Given the description of an element on the screen output the (x, y) to click on. 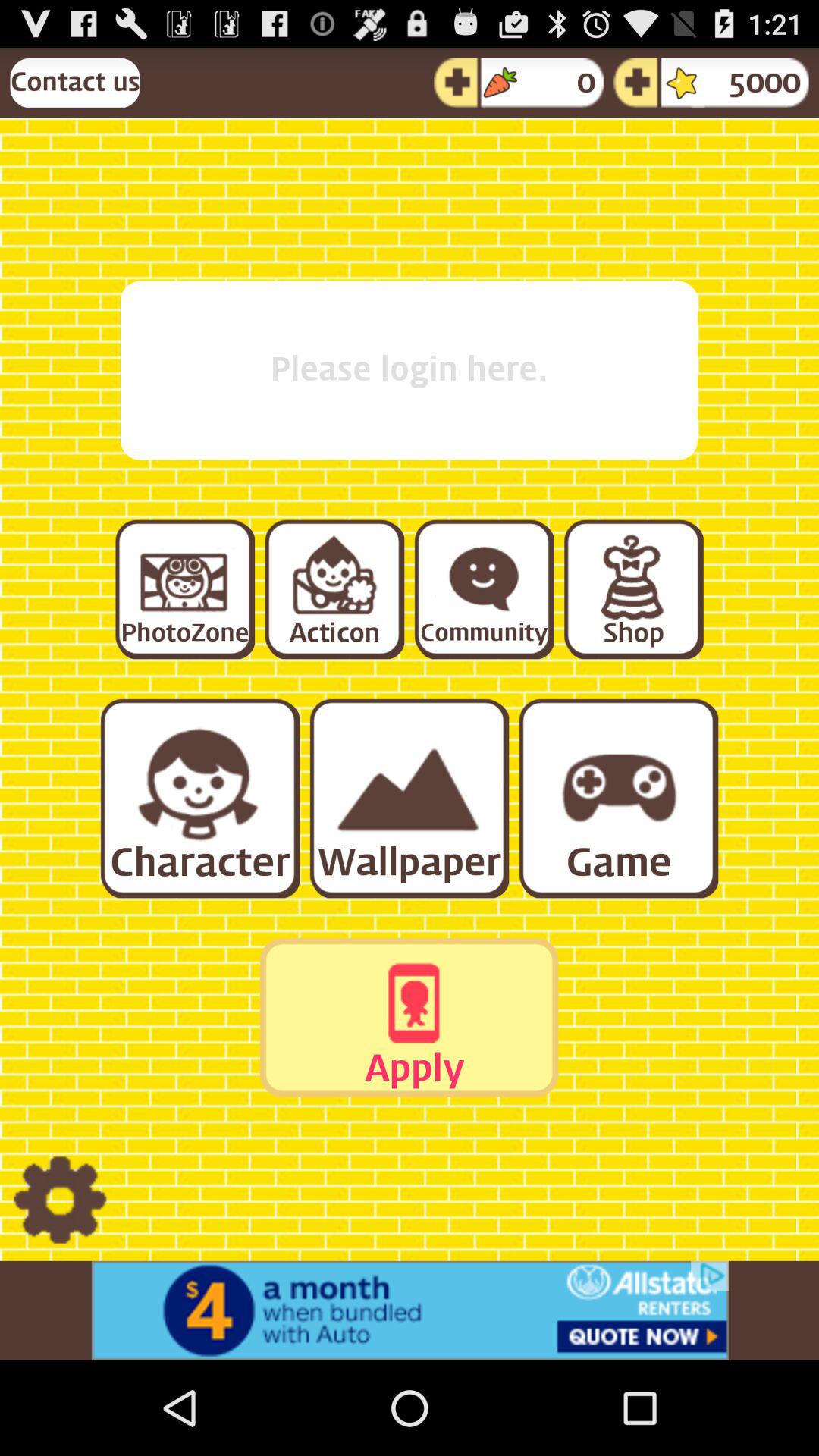
apply button (408, 1017)
